Given the description of an element on the screen output the (x, y) to click on. 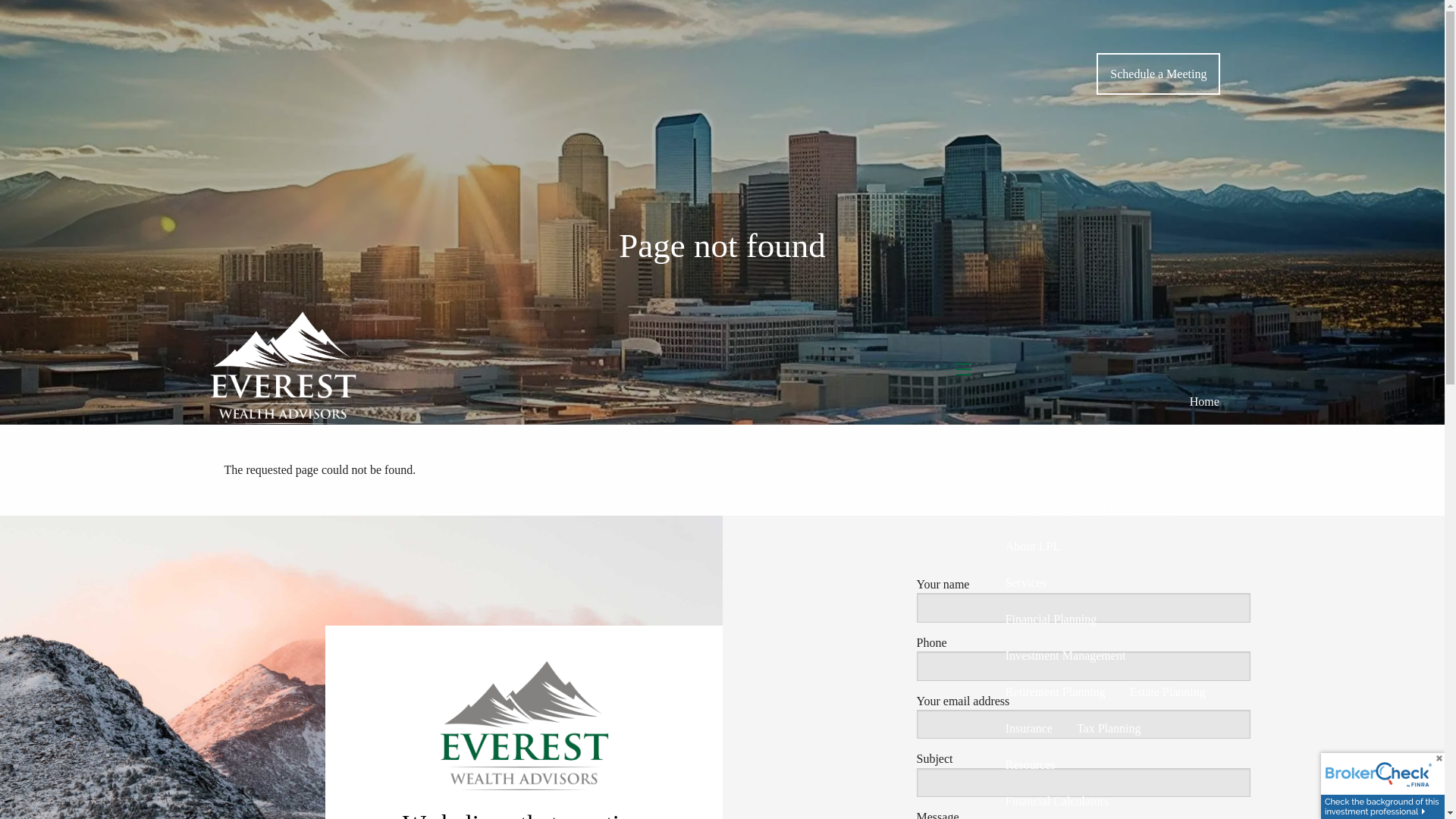
Schedule a Meeting (1158, 74)
About LPL (1031, 546)
Insurance (1028, 728)
Services (1111, 583)
Financial Calculators (1056, 800)
Tax Planning (1108, 728)
Tax Planning (1108, 728)
About Us (1028, 473)
Retirement Planning (1055, 692)
